Given the description of an element on the screen output the (x, y) to click on. 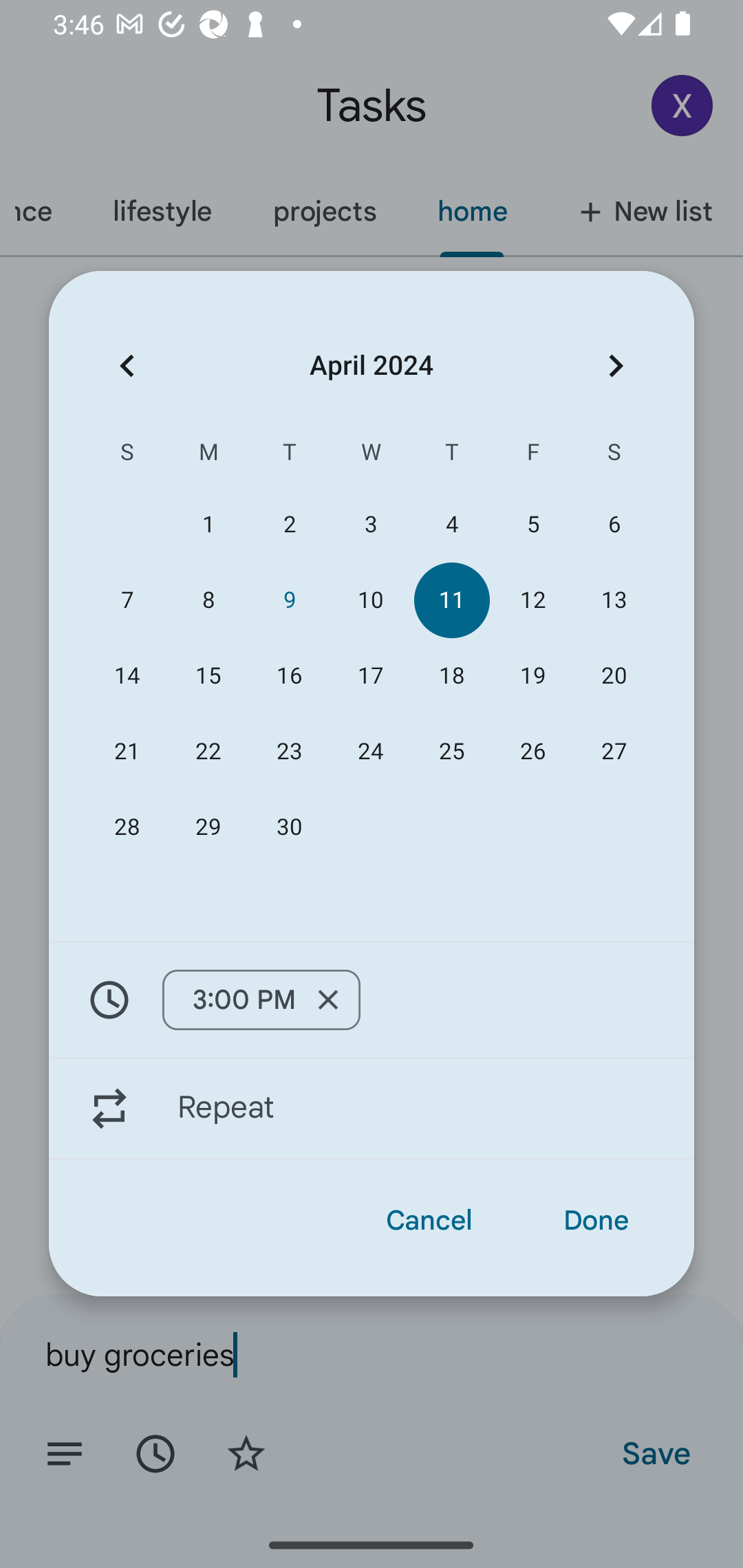
Previous month (126, 364)
Next month (615, 364)
1 01 April 2024 (207, 524)
2 02 April 2024 (288, 524)
3 03 April 2024 (370, 524)
4 04 April 2024 (451, 524)
5 05 April 2024 (532, 524)
6 06 April 2024 (613, 524)
7 07 April 2024 (126, 600)
8 08 April 2024 (207, 600)
9 09 April 2024 (288, 600)
10 10 April 2024 (370, 600)
11 11 April 2024 (451, 600)
12 12 April 2024 (532, 600)
13 13 April 2024 (613, 600)
14 14 April 2024 (126, 675)
15 15 April 2024 (207, 675)
16 16 April 2024 (288, 675)
17 17 April 2024 (370, 675)
18 18 April 2024 (451, 675)
19 19 April 2024 (532, 675)
20 20 April 2024 (613, 675)
21 21 April 2024 (126, 751)
22 22 April 2024 (207, 751)
23 23 April 2024 (288, 751)
24 24 April 2024 (370, 751)
25 25 April 2024 (451, 751)
26 26 April 2024 (532, 751)
27 27 April 2024 (613, 751)
28 28 April 2024 (126, 827)
29 29 April 2024 (207, 827)
30 30 April 2024 (288, 827)
3:00 PM Remove 3:00 PM (371, 999)
3:00 PM Remove 3:00 PM (261, 999)
Repeat (371, 1108)
Cancel (429, 1220)
Done (595, 1220)
